Given the description of an element on the screen output the (x, y) to click on. 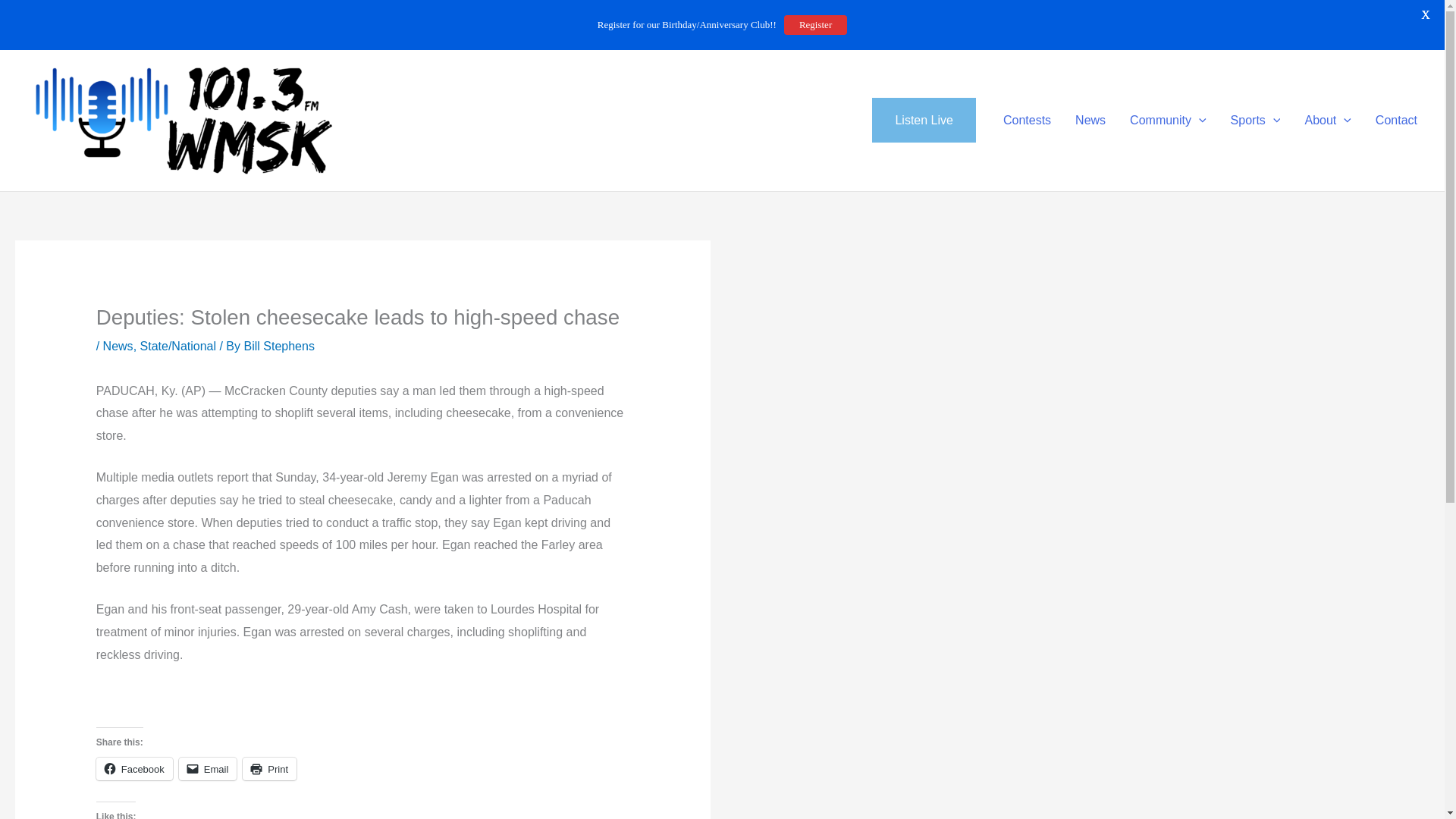
Listen Live (923, 120)
Contests (1026, 120)
Click to share on Facebook (134, 768)
News (1090, 120)
Community (1168, 120)
Click to email a link to a friend (208, 768)
About (1327, 120)
Sports (1255, 120)
Contact (1395, 120)
Click to print (270, 768)
